Given the description of an element on the screen output the (x, y) to click on. 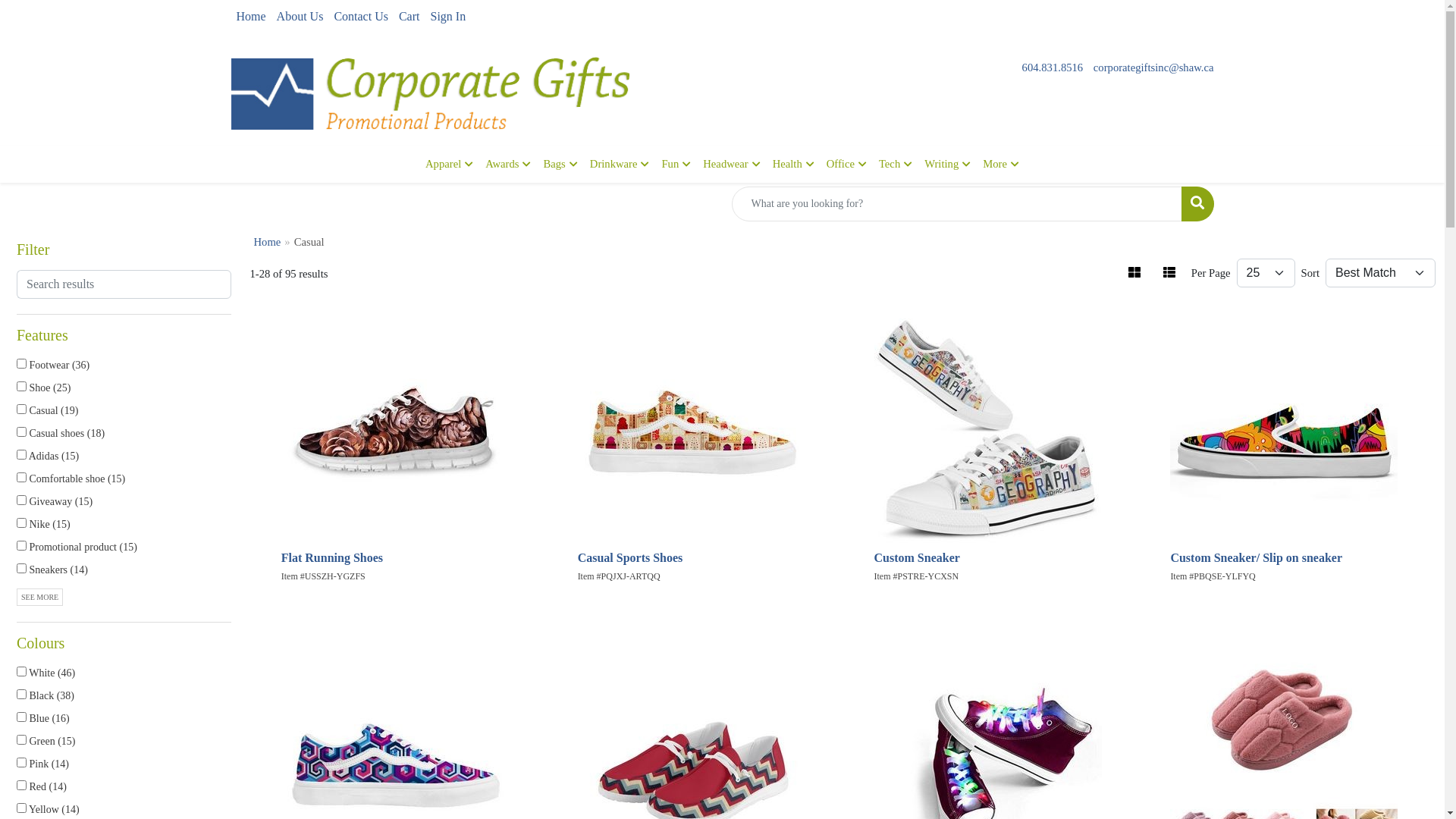
corporategiftsinc@shaw.ca Element type: text (1153, 67)
Contact Us Element type: text (360, 16)
Apparel Element type: text (449, 163)
Cart Element type: text (409, 16)
Tech Element type: text (895, 163)
Drinkware Element type: text (619, 163)
Headwear Element type: text (730, 163)
Health Element type: text (793, 163)
604.831.8516 Element type: text (1052, 67)
More Element type: text (1000, 163)
Fun Element type: text (675, 163)
Awards Element type: text (507, 163)
Sign In Element type: text (447, 16)
Home Element type: text (250, 16)
Office Element type: text (846, 163)
Bags Element type: text (559, 163)
About Us Element type: text (300, 16)
Writing Element type: text (947, 163)
